Given the description of an element on the screen output the (x, y) to click on. 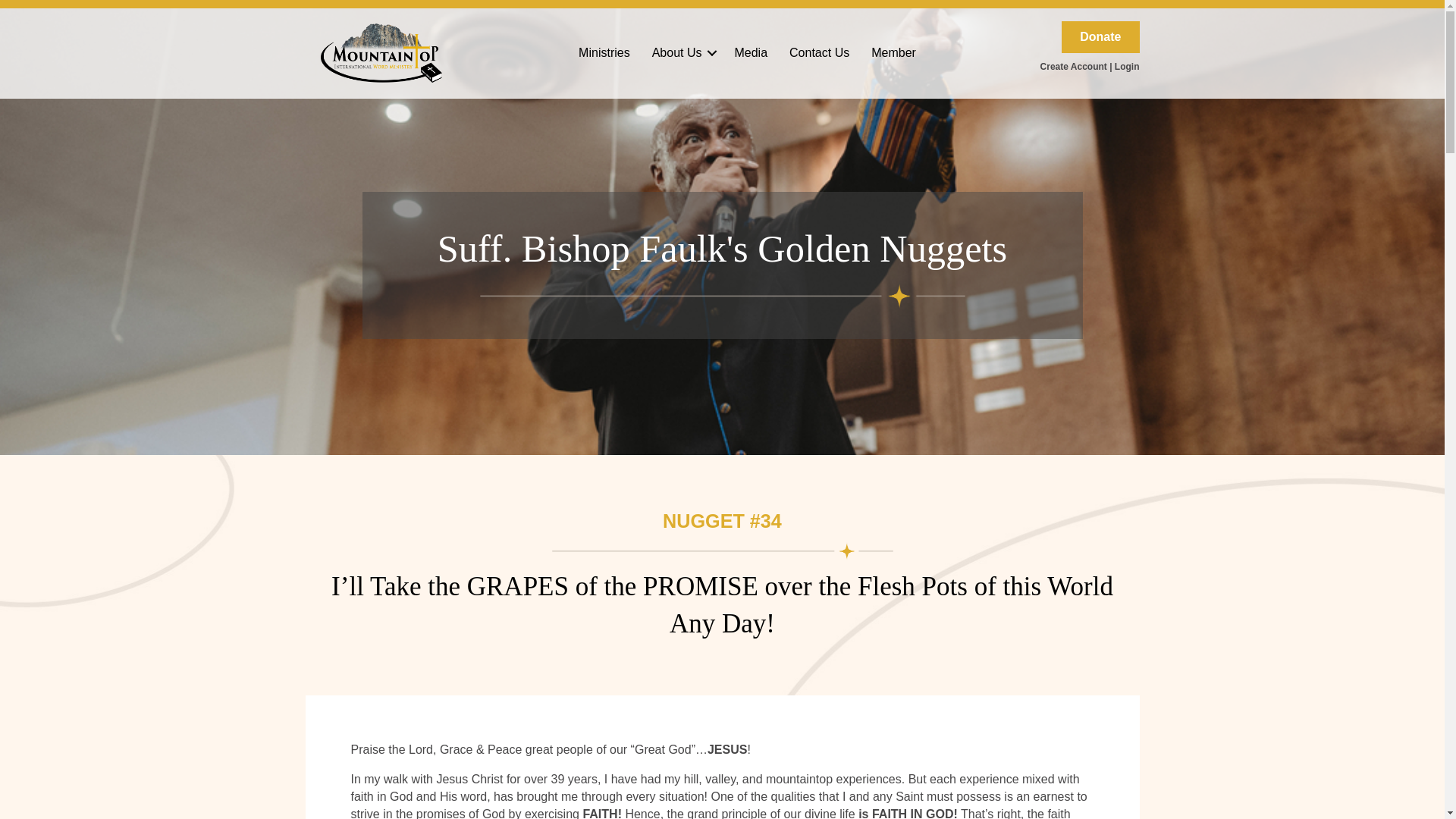
horizontal-divide (721, 295)
horizontal-divide (722, 550)
About Us (682, 52)
Ministries (603, 52)
Donate (1099, 37)
Contact Us (819, 52)
Member (893, 52)
Media (750, 52)
Login (1127, 65)
MountainTop-Logo-wo-bckgrd (380, 52)
Create Account (1073, 65)
